Given the description of an element on the screen output the (x, y) to click on. 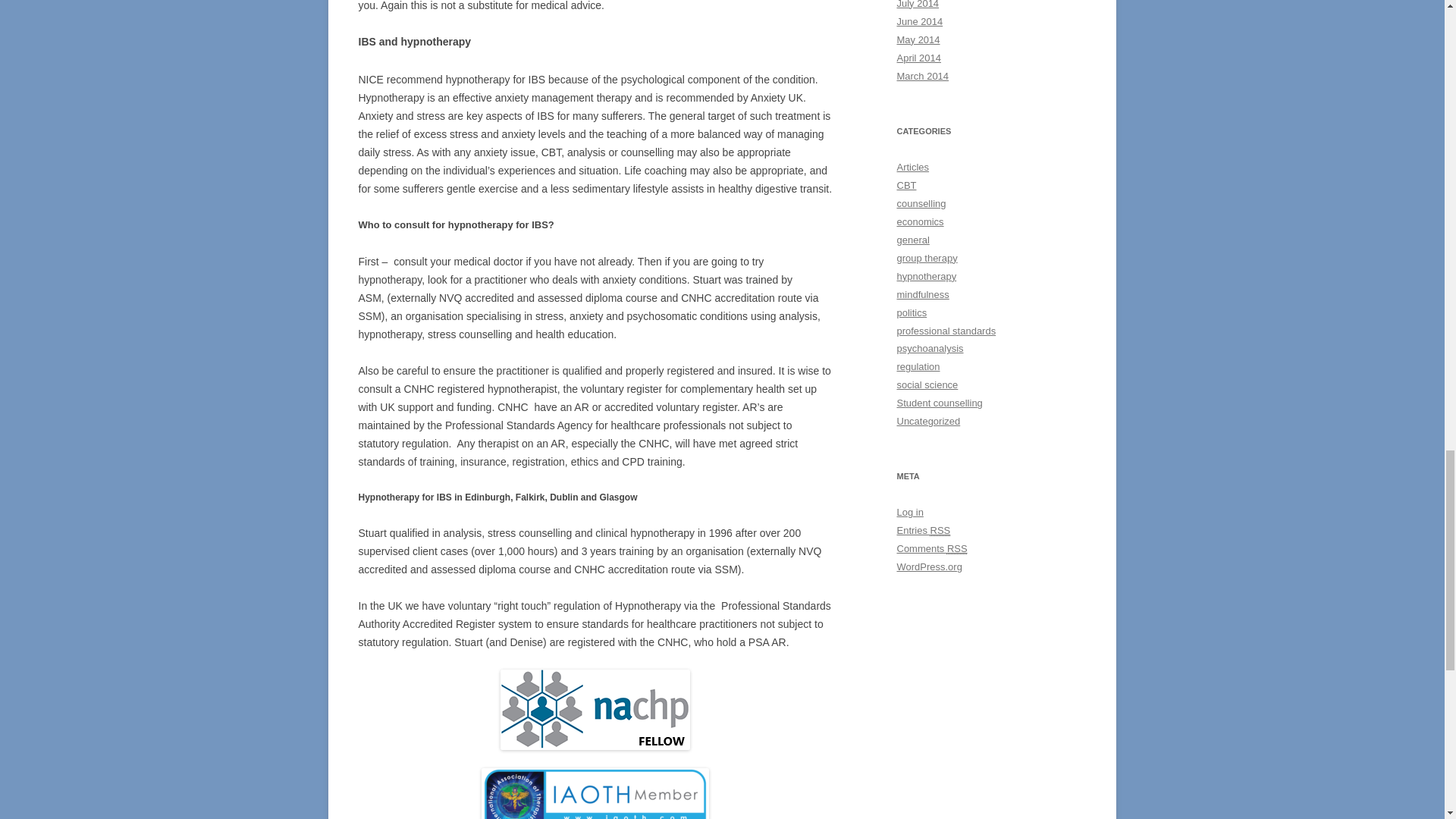
Really Simple Syndication (957, 548)
Really Simple Syndication (940, 530)
